Given the description of an element on the screen output the (x, y) to click on. 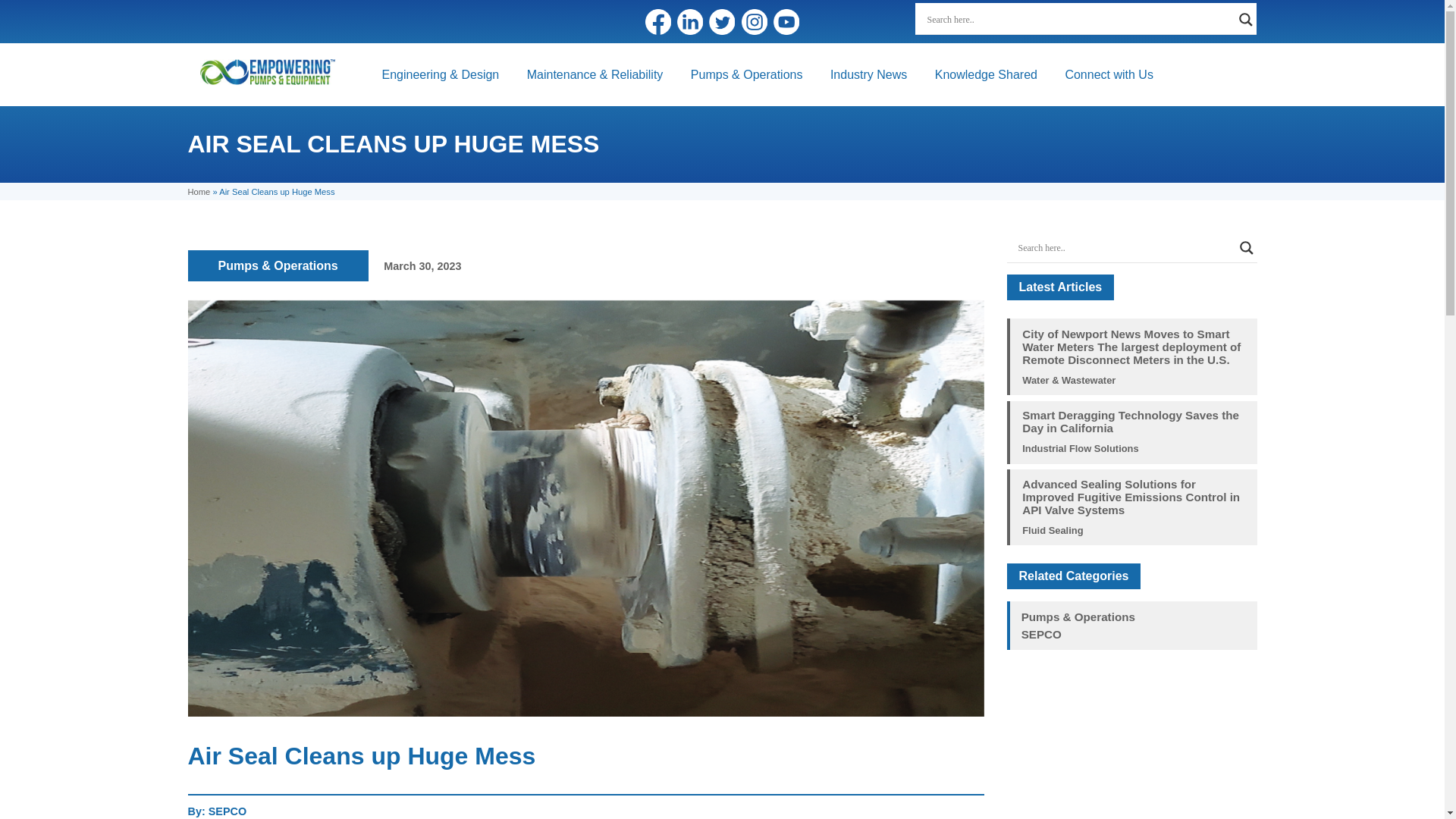
Connect with Us (1109, 73)
YouTube (786, 22)
Empowering Pumps on Instagram (754, 22)
Facebook (658, 22)
Knowledge Shared (986, 73)
Industry News (868, 73)
Instagram (754, 22)
Empowering Pumps on Facebook (658, 22)
LinkedIn (690, 22)
Twitter (722, 22)
